Given the description of an element on the screen output the (x, y) to click on. 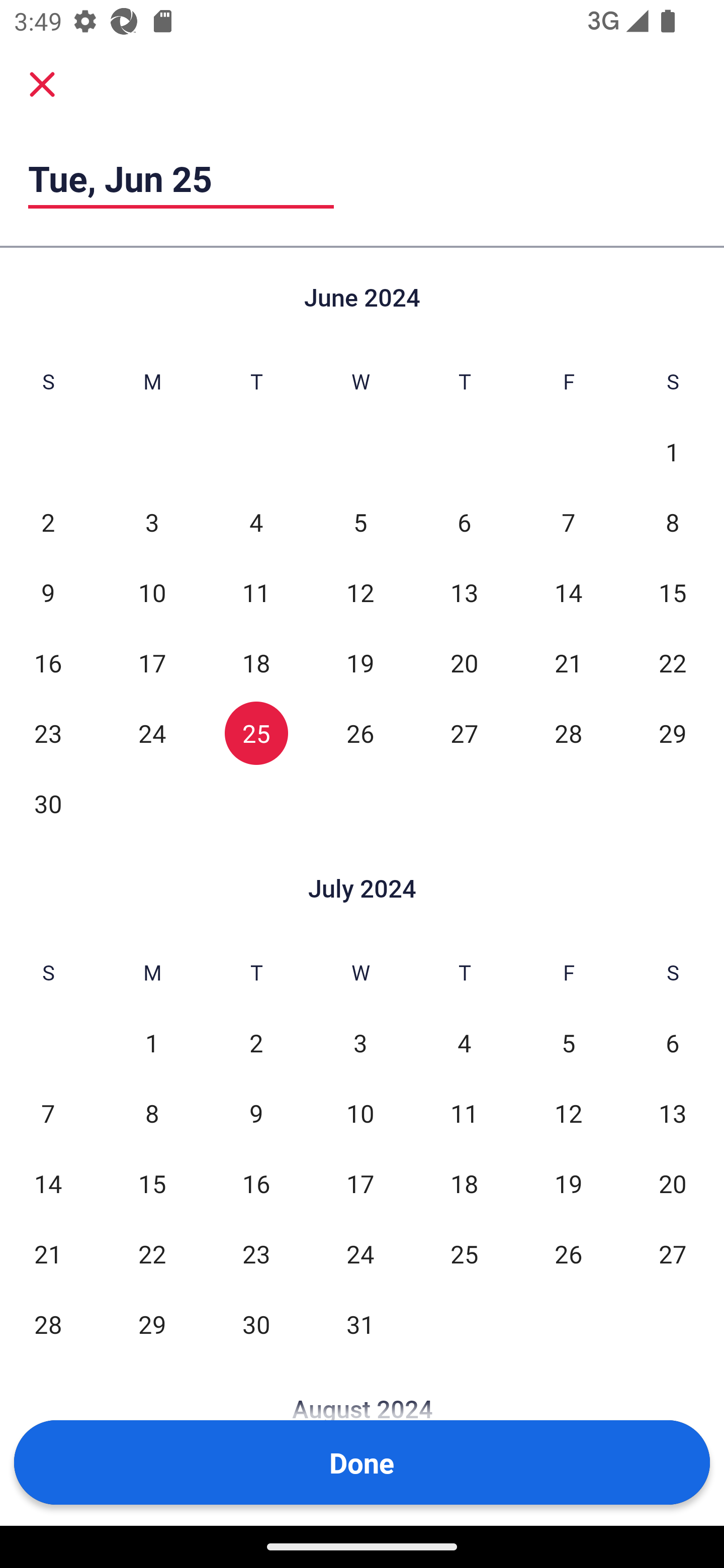
Cancel (41, 83)
Tue, Jun 25 (180, 178)
1 Sat, Jun 1, Not Selected (672, 452)
2 Sun, Jun 2, Not Selected (48, 521)
3 Mon, Jun 3, Not Selected (152, 521)
4 Tue, Jun 4, Not Selected (256, 521)
5 Wed, Jun 5, Not Selected (360, 521)
6 Thu, Jun 6, Not Selected (464, 521)
7 Fri, Jun 7, Not Selected (568, 521)
8 Sat, Jun 8, Not Selected (672, 521)
9 Sun, Jun 9, Not Selected (48, 591)
10 Mon, Jun 10, Not Selected (152, 591)
11 Tue, Jun 11, Not Selected (256, 591)
12 Wed, Jun 12, Not Selected (360, 591)
13 Thu, Jun 13, Not Selected (464, 591)
14 Fri, Jun 14, Not Selected (568, 591)
15 Sat, Jun 15, Not Selected (672, 591)
16 Sun, Jun 16, Not Selected (48, 662)
17 Mon, Jun 17, Not Selected (152, 662)
18 Tue, Jun 18, Not Selected (256, 662)
19 Wed, Jun 19, Not Selected (360, 662)
20 Thu, Jun 20, Not Selected (464, 662)
21 Fri, Jun 21, Not Selected (568, 662)
22 Sat, Jun 22, Not Selected (672, 662)
23 Sun, Jun 23, Not Selected (48, 732)
24 Mon, Jun 24, Not Selected (152, 732)
25 Tue, Jun 25, Selected (256, 732)
26 Wed, Jun 26, Not Selected (360, 732)
27 Thu, Jun 27, Not Selected (464, 732)
28 Fri, Jun 28, Not Selected (568, 732)
29 Sat, Jun 29, Not Selected (672, 732)
30 Sun, Jun 30, Not Selected (48, 803)
1 Mon, Jul 1, Not Selected (152, 1043)
2 Tue, Jul 2, Not Selected (256, 1043)
3 Wed, Jul 3, Not Selected (360, 1043)
4 Thu, Jul 4, Not Selected (464, 1043)
5 Fri, Jul 5, Not Selected (568, 1043)
6 Sat, Jul 6, Not Selected (672, 1043)
7 Sun, Jul 7, Not Selected (48, 1112)
8 Mon, Jul 8, Not Selected (152, 1112)
9 Tue, Jul 9, Not Selected (256, 1112)
10 Wed, Jul 10, Not Selected (360, 1112)
11 Thu, Jul 11, Not Selected (464, 1112)
12 Fri, Jul 12, Not Selected (568, 1112)
13 Sat, Jul 13, Not Selected (672, 1112)
14 Sun, Jul 14, Not Selected (48, 1182)
15 Mon, Jul 15, Not Selected (152, 1182)
16 Tue, Jul 16, Not Selected (256, 1182)
17 Wed, Jul 17, Not Selected (360, 1182)
18 Thu, Jul 18, Not Selected (464, 1182)
19 Fri, Jul 19, Not Selected (568, 1182)
20 Sat, Jul 20, Not Selected (672, 1182)
21 Sun, Jul 21, Not Selected (48, 1253)
22 Mon, Jul 22, Not Selected (152, 1253)
23 Tue, Jul 23, Not Selected (256, 1253)
24 Wed, Jul 24, Not Selected (360, 1253)
25 Thu, Jul 25, Not Selected (464, 1253)
26 Fri, Jul 26, Not Selected (568, 1253)
27 Sat, Jul 27, Not Selected (672, 1253)
28 Sun, Jul 28, Not Selected (48, 1323)
29 Mon, Jul 29, Not Selected (152, 1323)
30 Tue, Jul 30, Not Selected (256, 1323)
31 Wed, Jul 31, Not Selected (360, 1323)
Done Button Done (361, 1462)
